Given the description of an element on the screen output the (x, y) to click on. 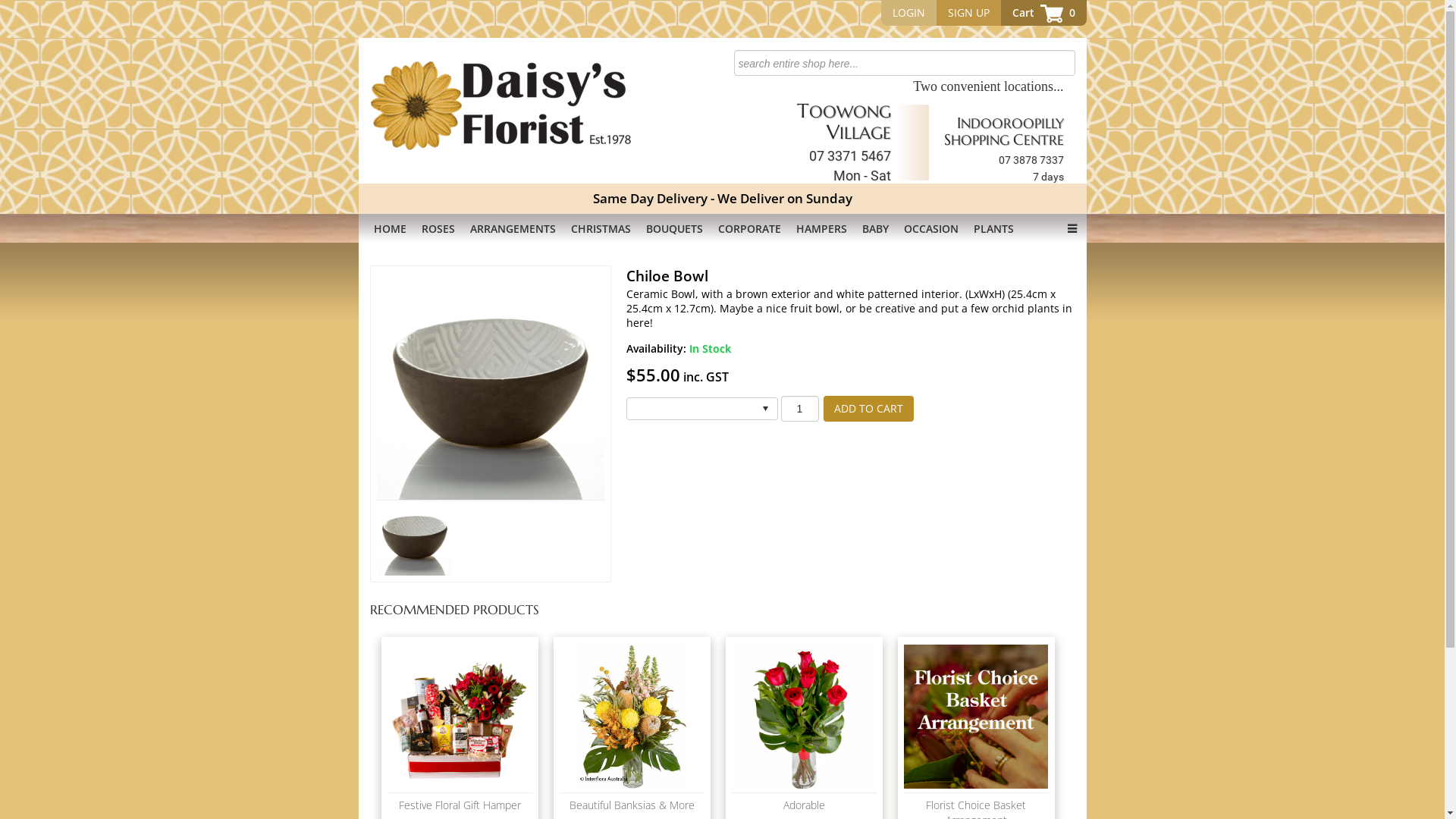
CORPORATE Element type: text (748, 228)
BABY Element type: text (874, 228)
Cart 0 Element type: text (1043, 12)
INDOOROOPILLY
SHOPPING CENTRE
07 3878 7337
7 days Element type: text (1003, 148)
ROSES Element type: text (438, 228)
HOME Element type: text (389, 228)
Next Image Element type: text (574, 385)
SIGN UP Element type: text (967, 12)
TOOWONG
VILLAGE
07 3371 5467
Mon - Sat Element type: text (843, 141)
LOGIN Element type: text (908, 12)
CHRISTMAS Element type: text (599, 228)
BOUQUETS Element type: text (674, 228)
Previous Image Element type: text (404, 385)
ARRANGEMENTS Element type: text (512, 228)
ADD TO CART Element type: text (868, 408)
OCCASION Element type: text (931, 228)
HAMPERS Element type: text (821, 228)
PLANTS Element type: text (993, 228)
Search Element type: text (21, 7)
